Given the description of an element on the screen output the (x, y) to click on. 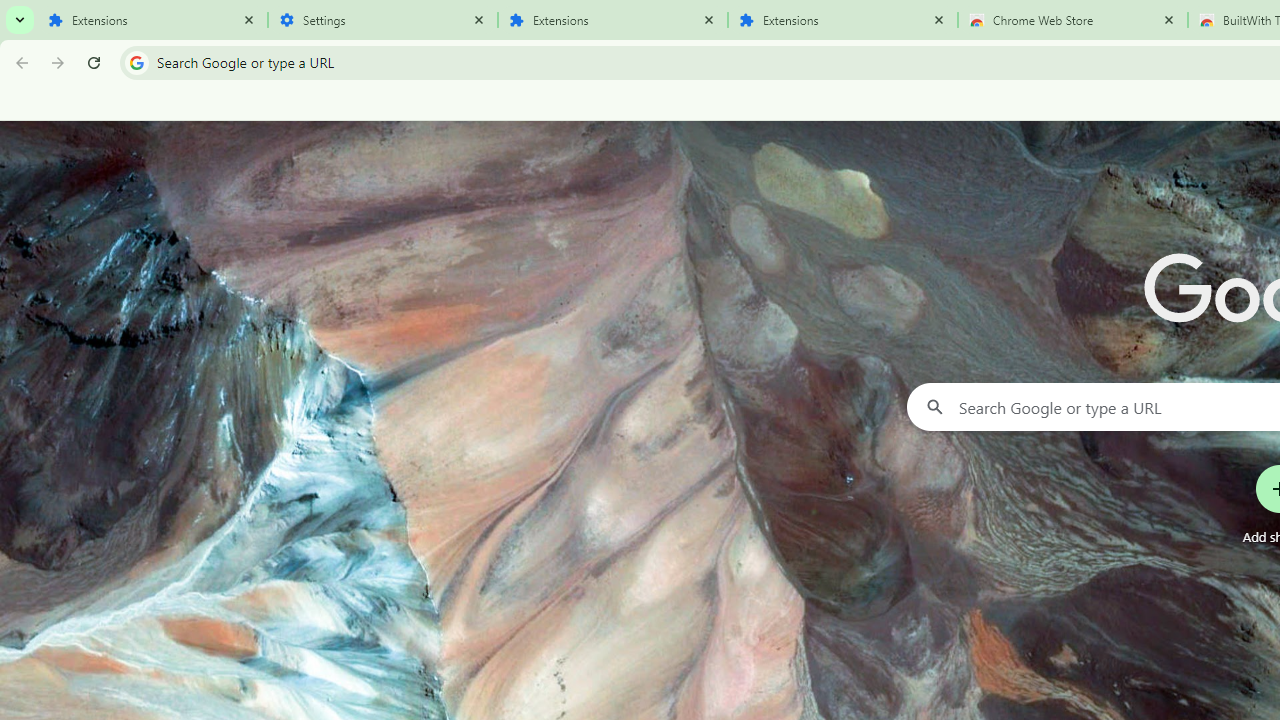
Settings (382, 20)
Chrome Web Store (1072, 20)
Extensions (842, 20)
Extensions (152, 20)
Extensions (612, 20)
